Given the description of an element on the screen output the (x, y) to click on. 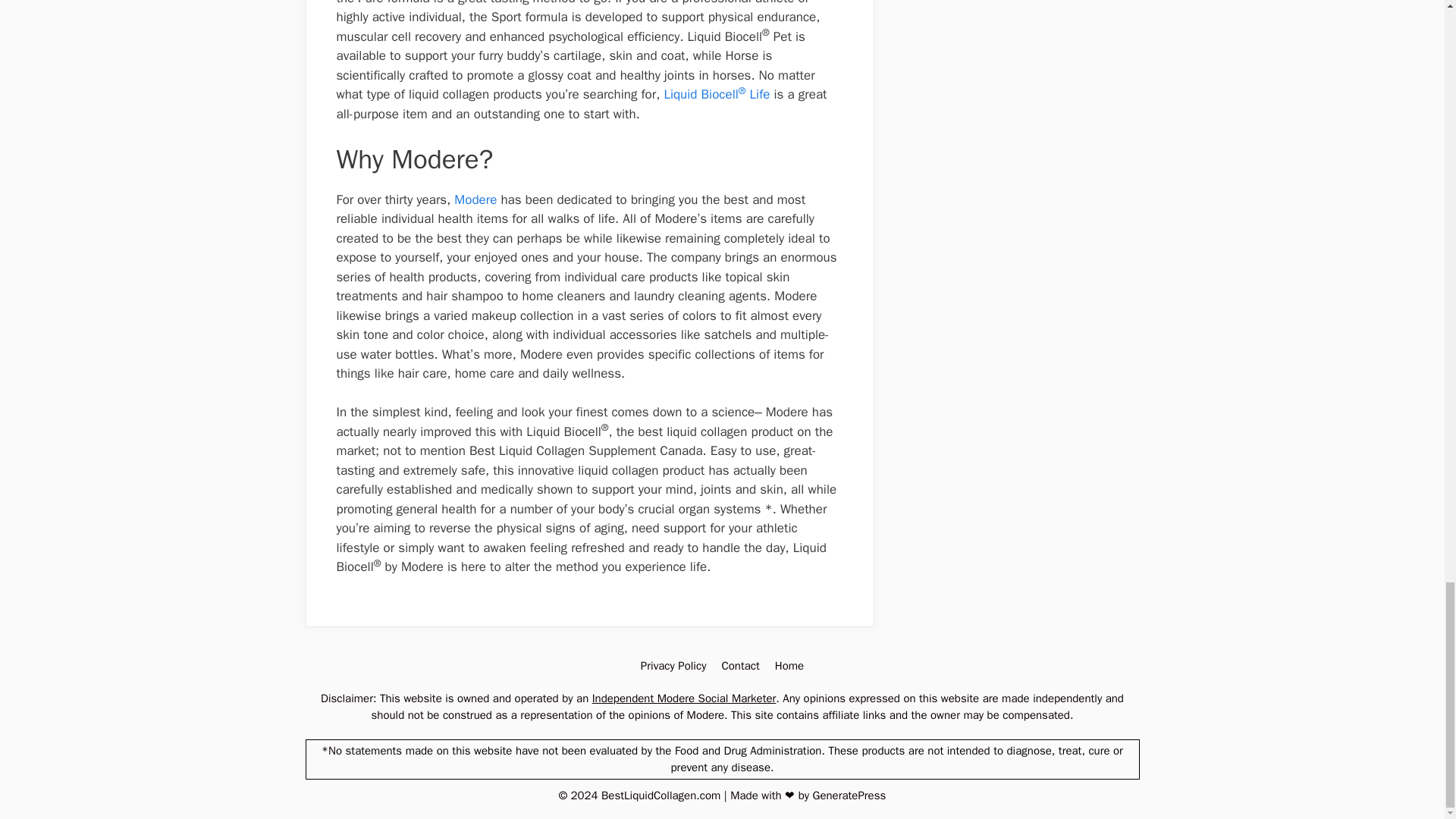
GeneratePress (849, 795)
Contact (739, 665)
Privacy Policy (673, 665)
Independent Modere Social Marketer (684, 698)
Home (788, 665)
Modere (475, 199)
